Given the description of an element on the screen output the (x, y) to click on. 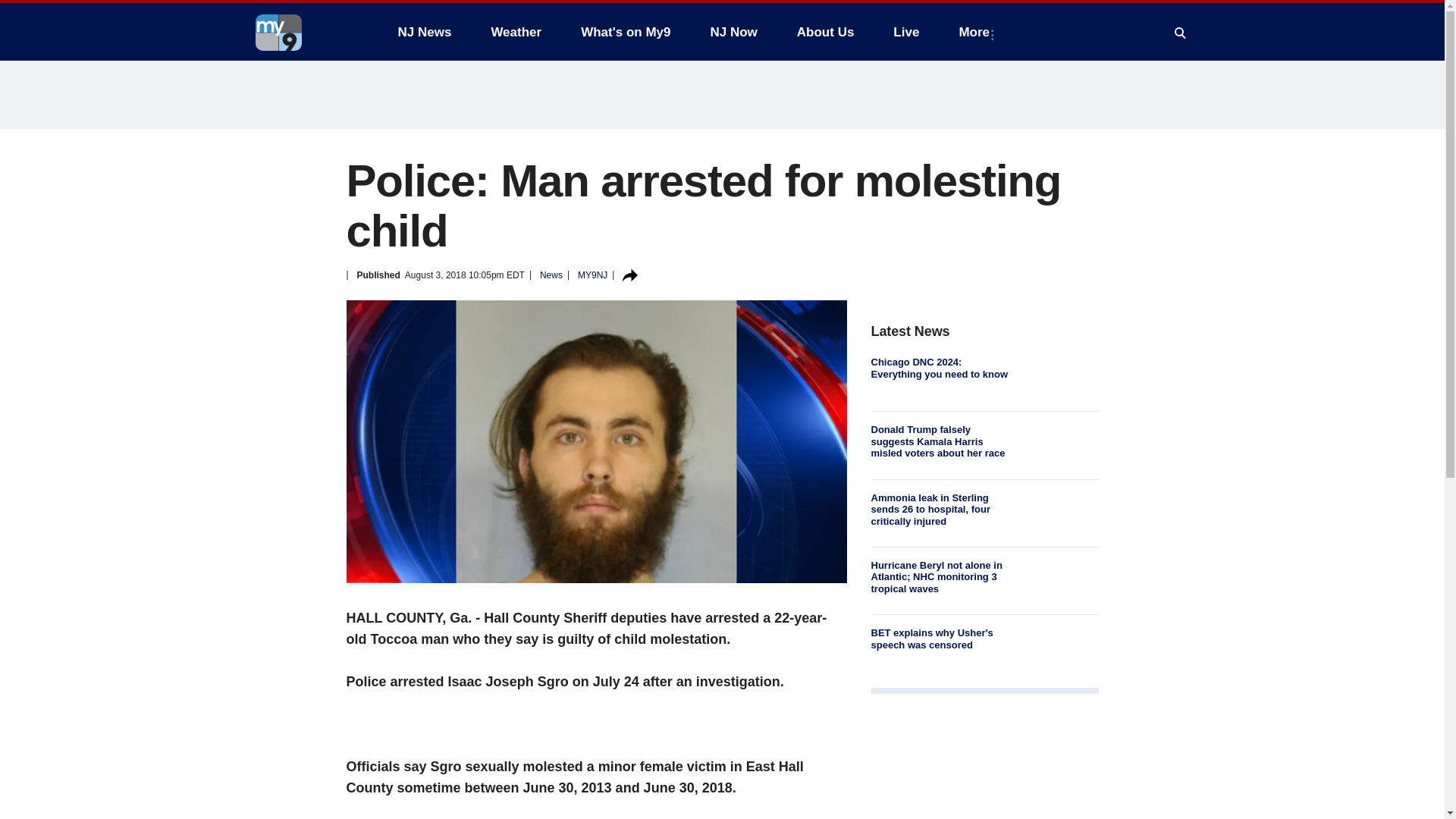
NJ News (424, 32)
MY9NJ (592, 275)
What's on My9 (625, 32)
News (551, 275)
NJ Now (732, 32)
About Us (825, 32)
Weather (516, 32)
Live (905, 32)
More (976, 32)
